Given the description of an element on the screen output the (x, y) to click on. 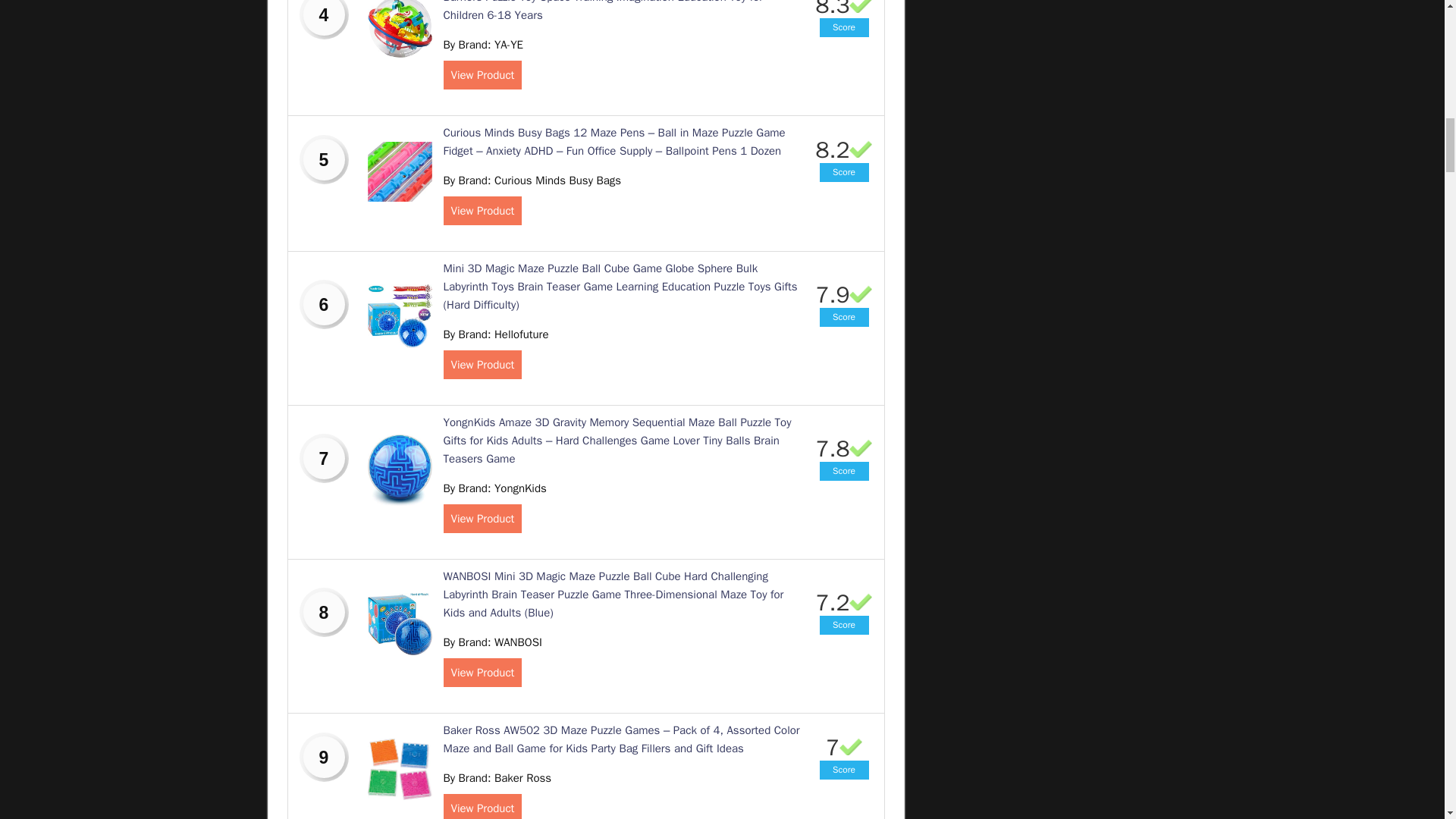
By Brand: Hellofuture (495, 334)
View Product (481, 210)
By Brand: Curious Minds Busy Bags (531, 180)
View Product (481, 74)
By Brand: YA-YE (482, 44)
View Product (481, 364)
